Given the description of an element on the screen output the (x, y) to click on. 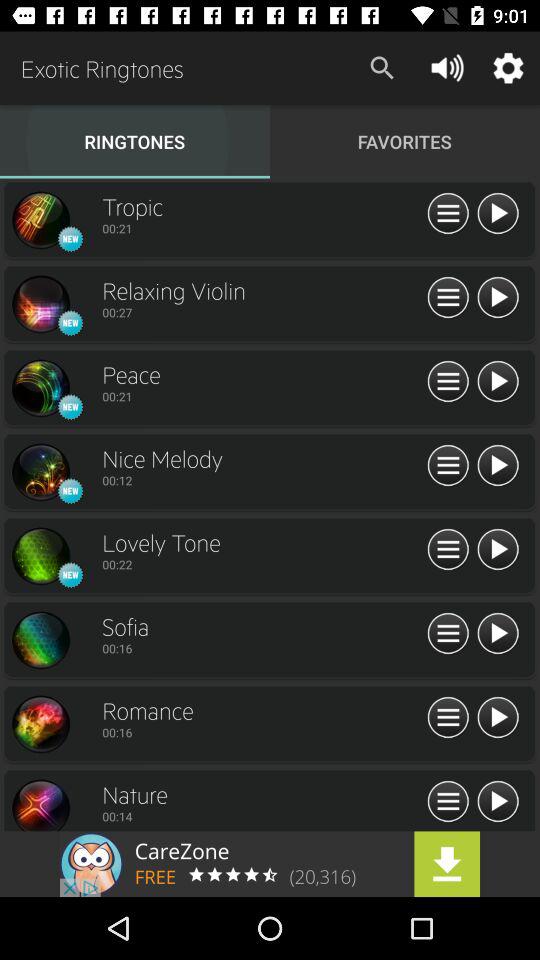
view artist profile (40, 724)
